Given the description of an element on the screen output the (x, y) to click on. 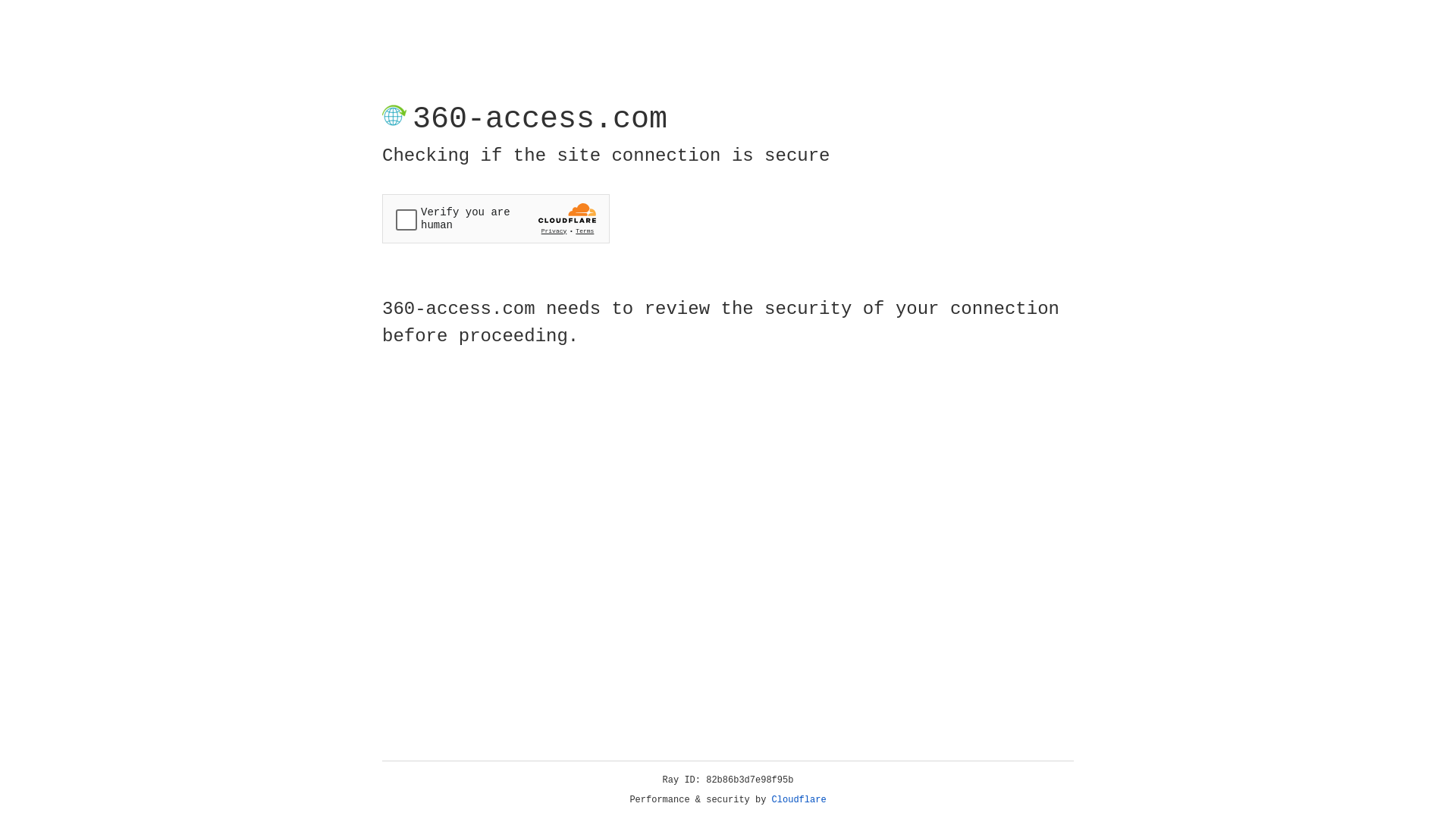
Widget containing a Cloudflare security challenge Element type: hover (495, 218)
Cloudflare Element type: text (798, 799)
